Given the description of an element on the screen output the (x, y) to click on. 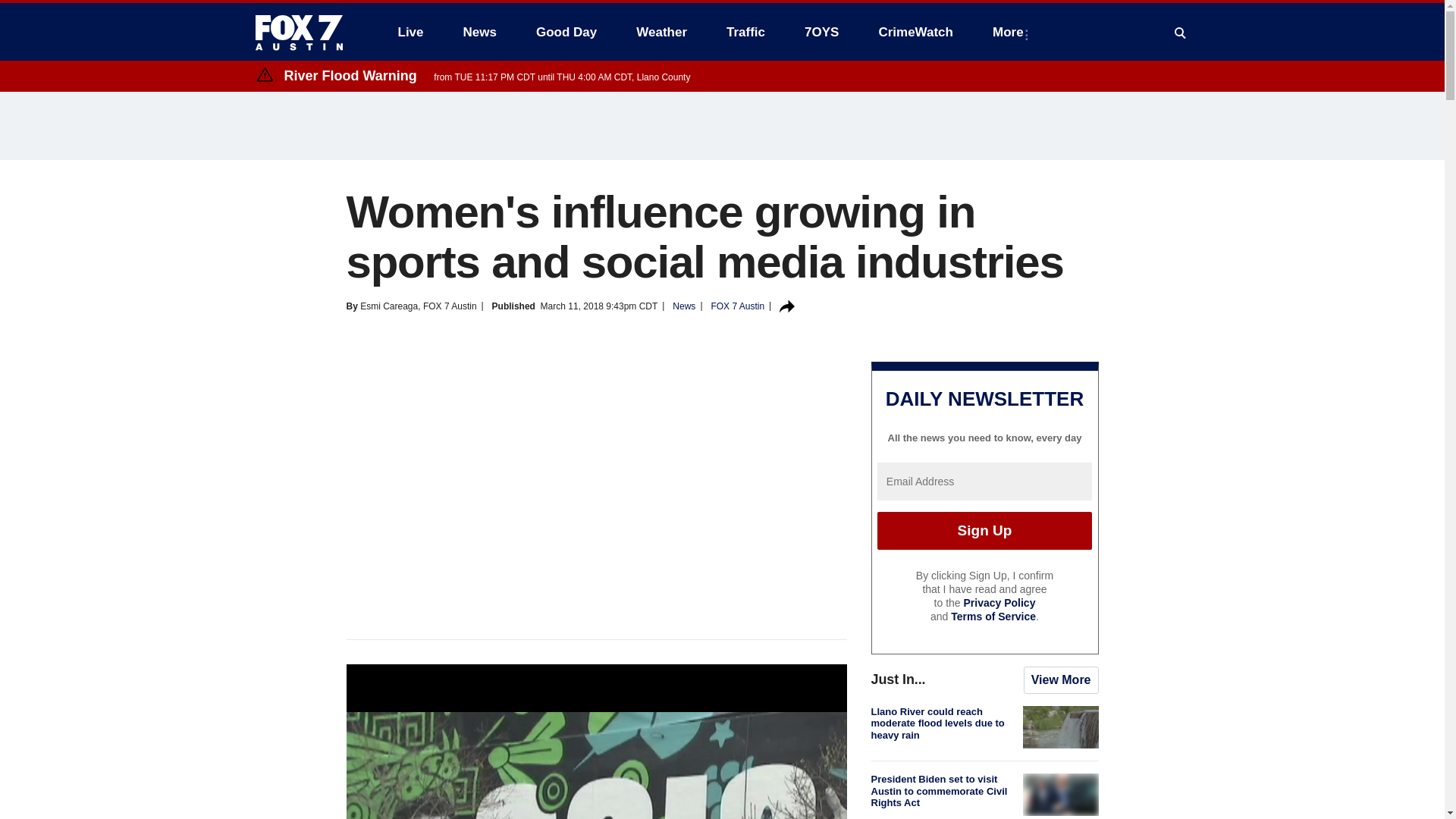
CrimeWatch (915, 32)
Live (410, 32)
More (1010, 32)
Good Day (566, 32)
News (479, 32)
Traffic (745, 32)
Sign Up (984, 530)
Weather (661, 32)
7OYS (821, 32)
